Given the description of an element on the screen output the (x, y) to click on. 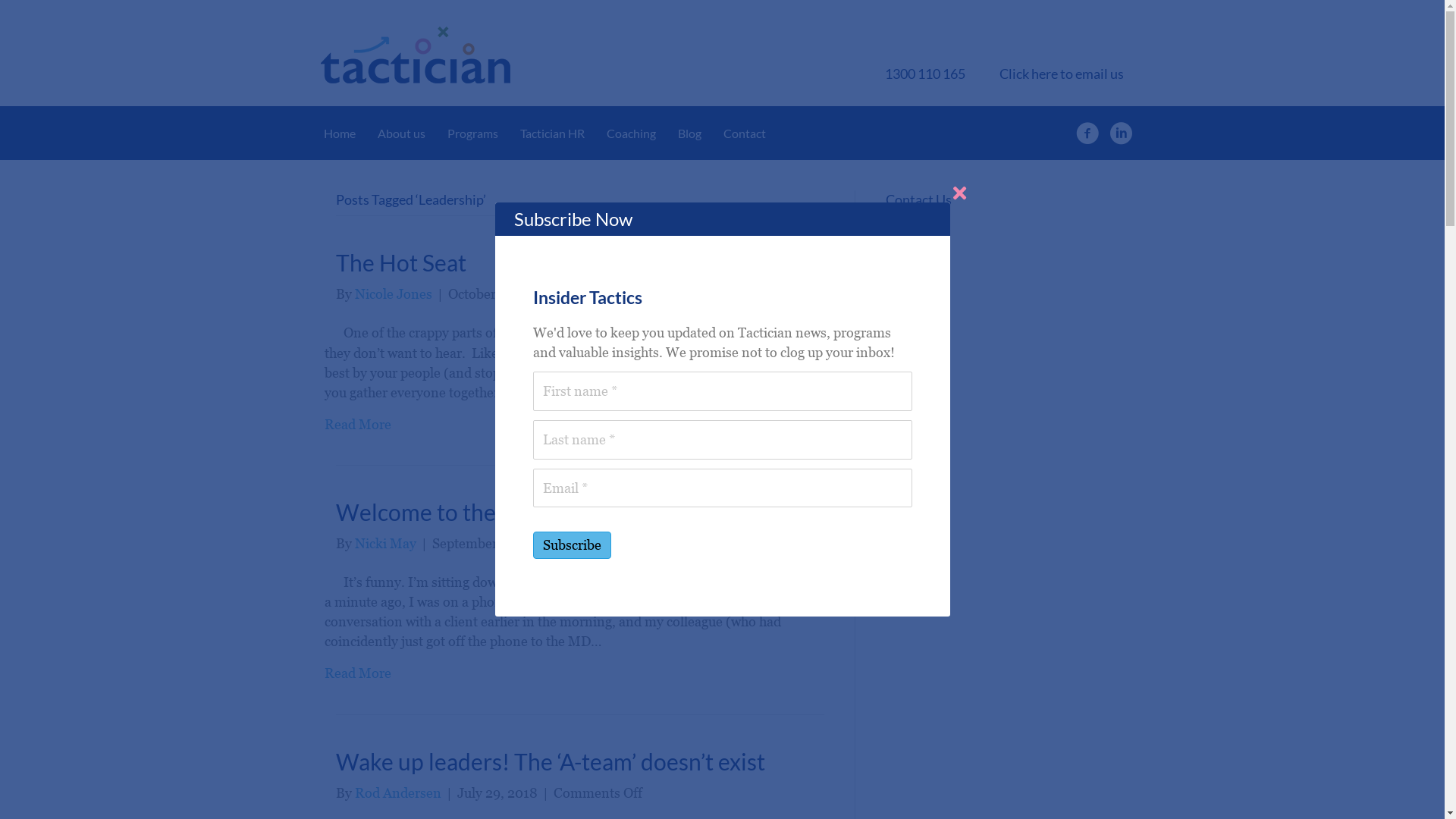
Subscribe Element type: text (572, 544)
Read More Element type: text (357, 424)
Blog Element type: text (689, 132)
Tactician-logo-250 Element type: hover (414, 54)
Read More Element type: text (357, 672)
Welcome to the club Element type: text (438, 511)
Click here to email us Element type: text (1061, 73)
Tactician HR Element type: text (552, 132)
Rod Andersen Element type: text (397, 792)
1300 110 165 Element type: text (924, 73)
Programs Element type: text (472, 132)
Contact Element type: text (744, 132)
Nicki May Element type: text (385, 543)
Coaching Element type: text (631, 132)
Home Element type: text (338, 132)
About us Element type: text (401, 132)
The Hot Seat Element type: text (400, 262)
Nicole Jones Element type: text (393, 293)
